Given the description of an element on the screen output the (x, y) to click on. 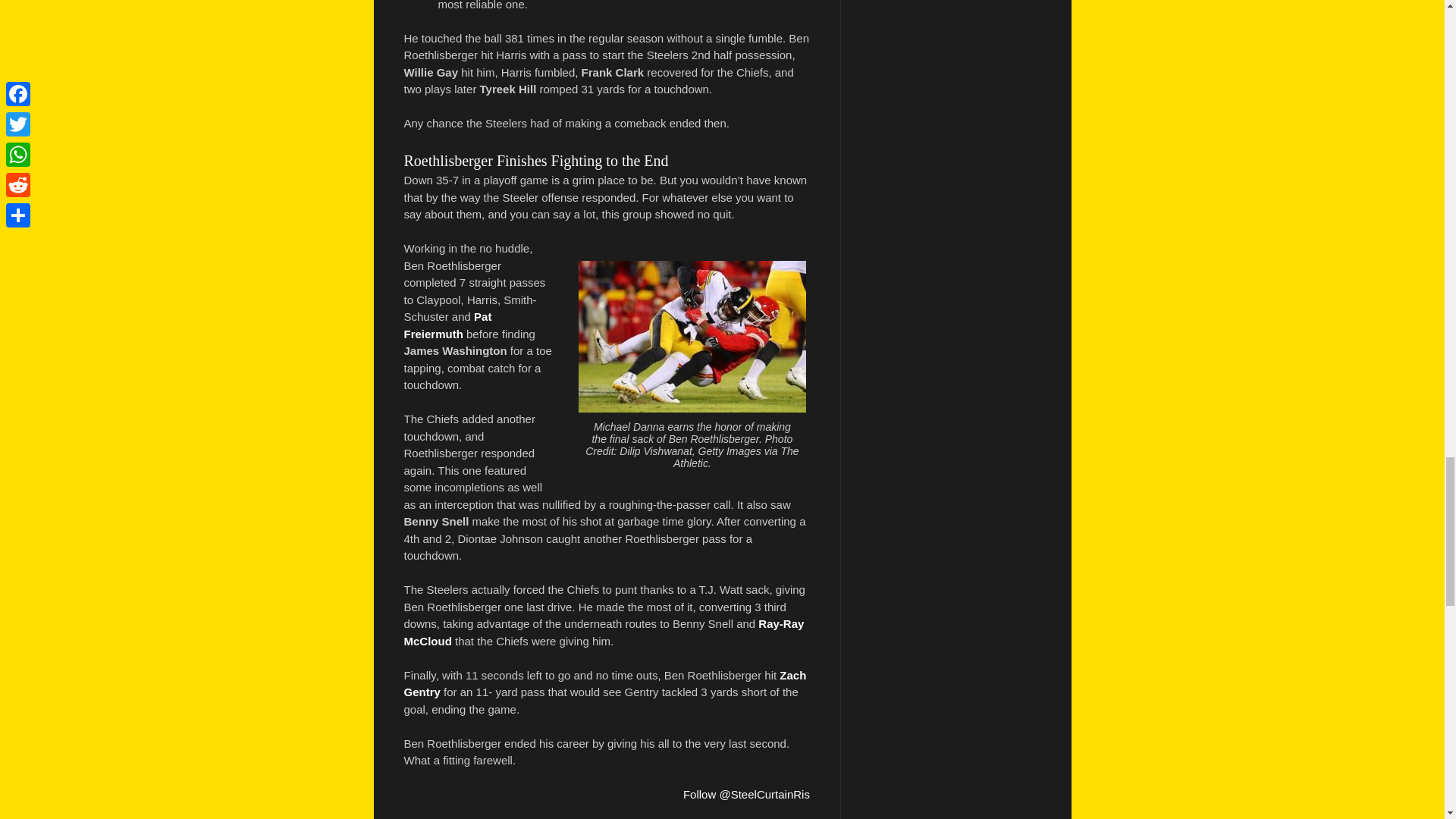
Ray-Ray McCloud (603, 632)
Zach Gentry (604, 684)
Pat Freiermuth (447, 325)
